Given the description of an element on the screen output the (x, y) to click on. 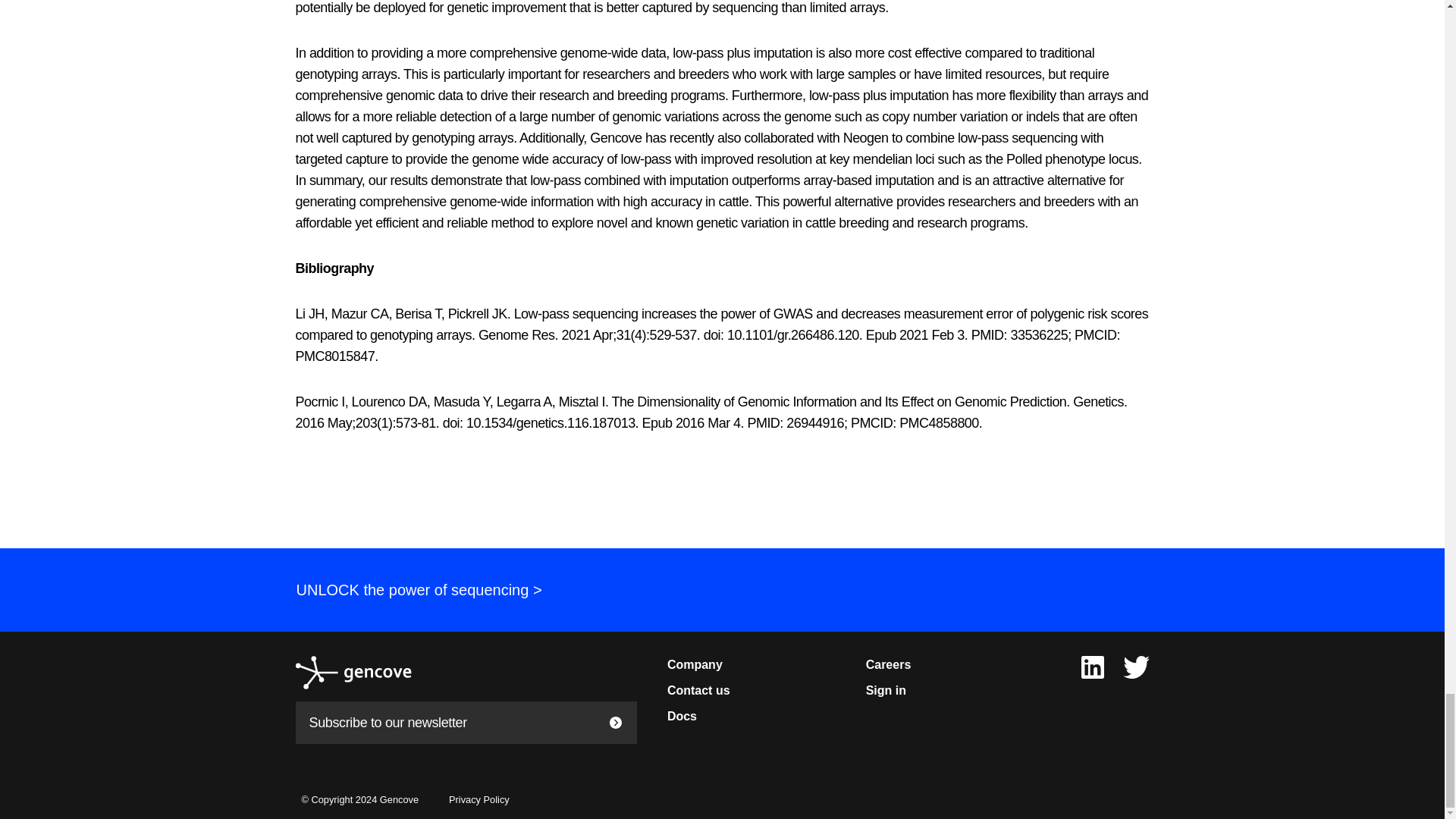
Submit (615, 722)
LinkedIn (1092, 666)
Sign in (885, 689)
Submit (615, 722)
Company (694, 664)
Contact us (698, 689)
Twitter (1136, 666)
Docs (681, 716)
Privacy Policy (478, 799)
Careers (888, 664)
